Given the description of an element on the screen output the (x, y) to click on. 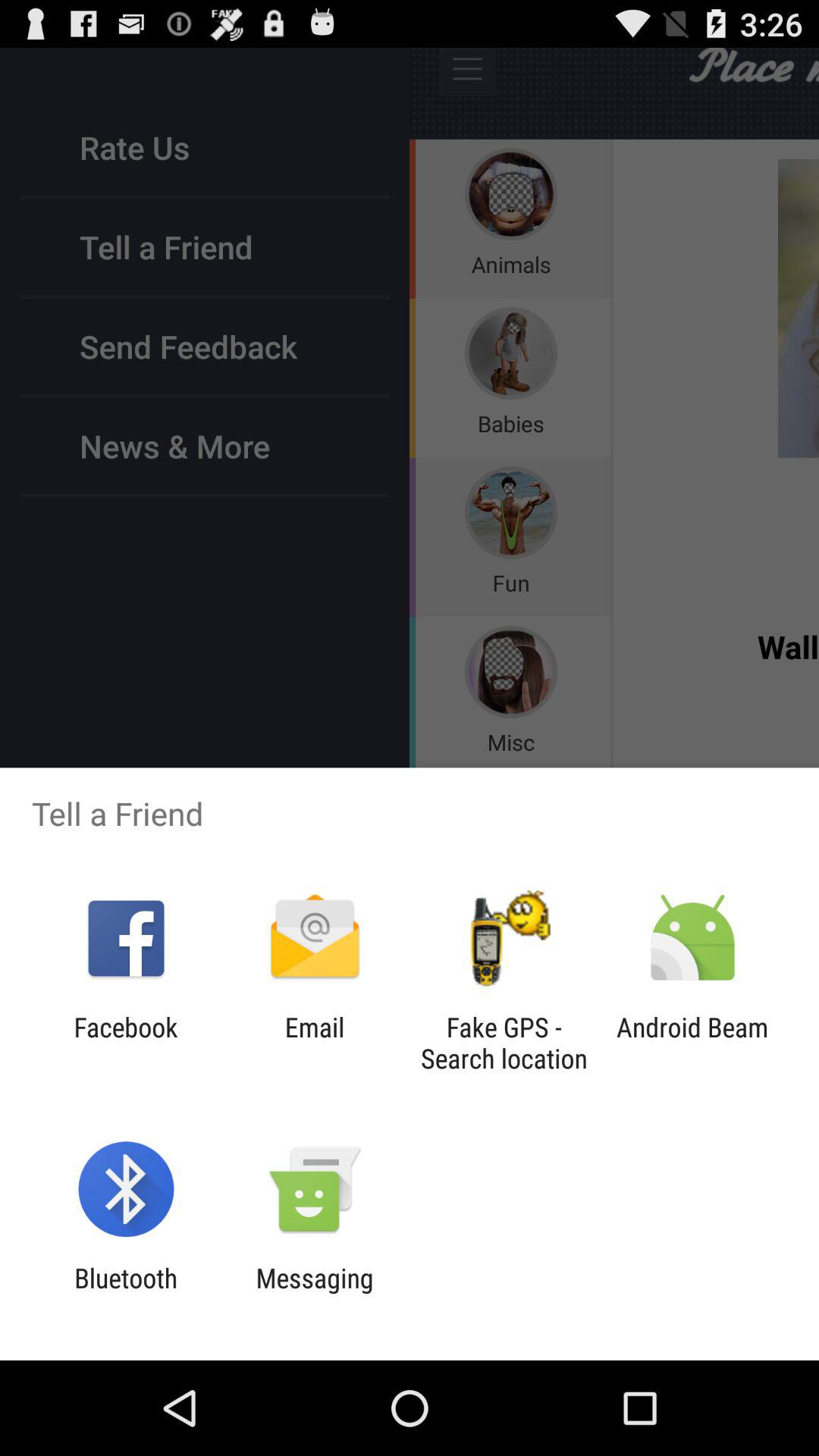
jump to the email icon (314, 1042)
